Given the description of an element on the screen output the (x, y) to click on. 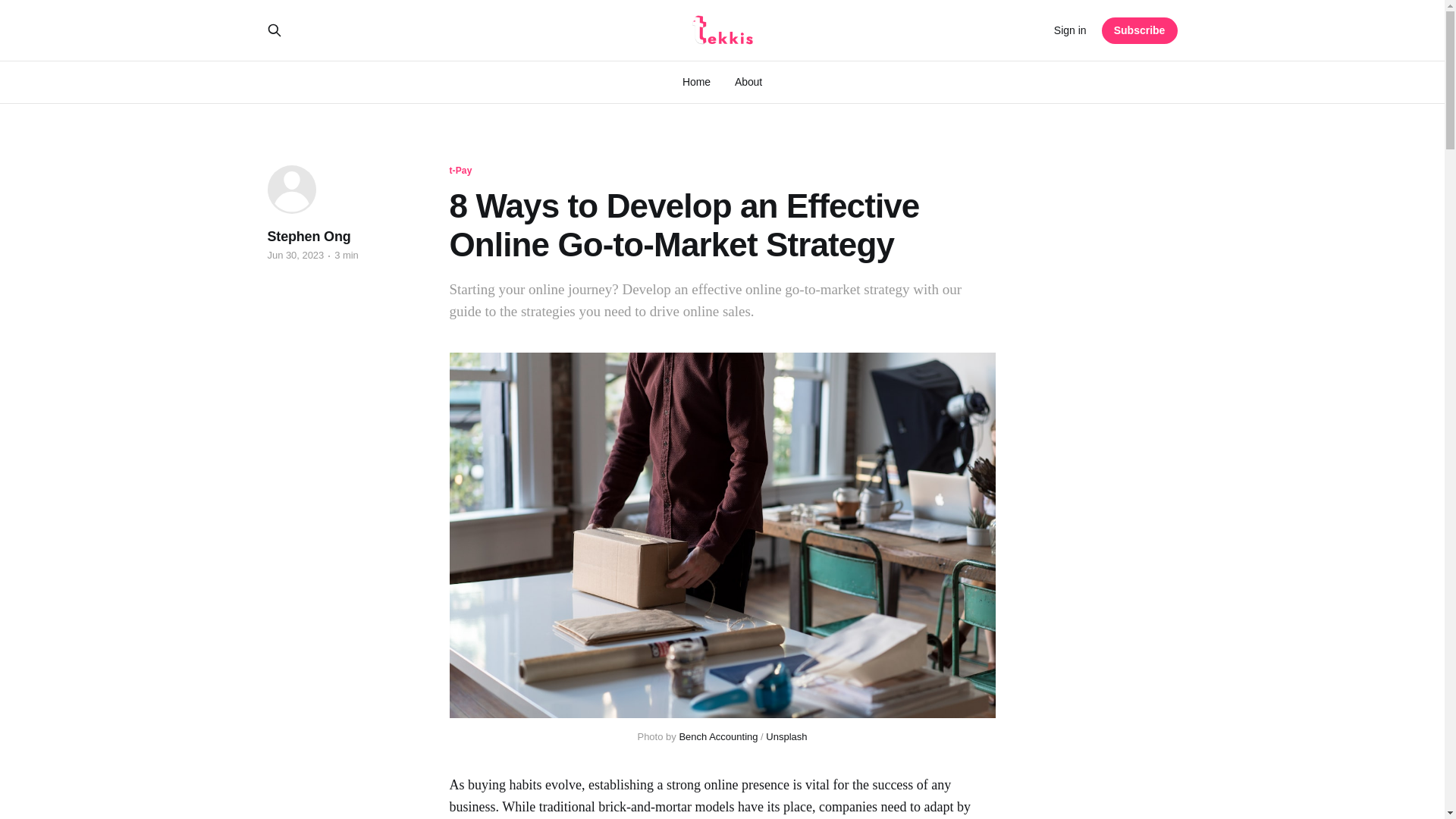
Home (696, 81)
Unsplash (785, 736)
t-Pay (459, 170)
Stephen Ong (308, 236)
Sign in (1070, 30)
Bench Accounting (717, 736)
Subscribe (1139, 29)
About (748, 81)
